Given the description of an element on the screen output the (x, y) to click on. 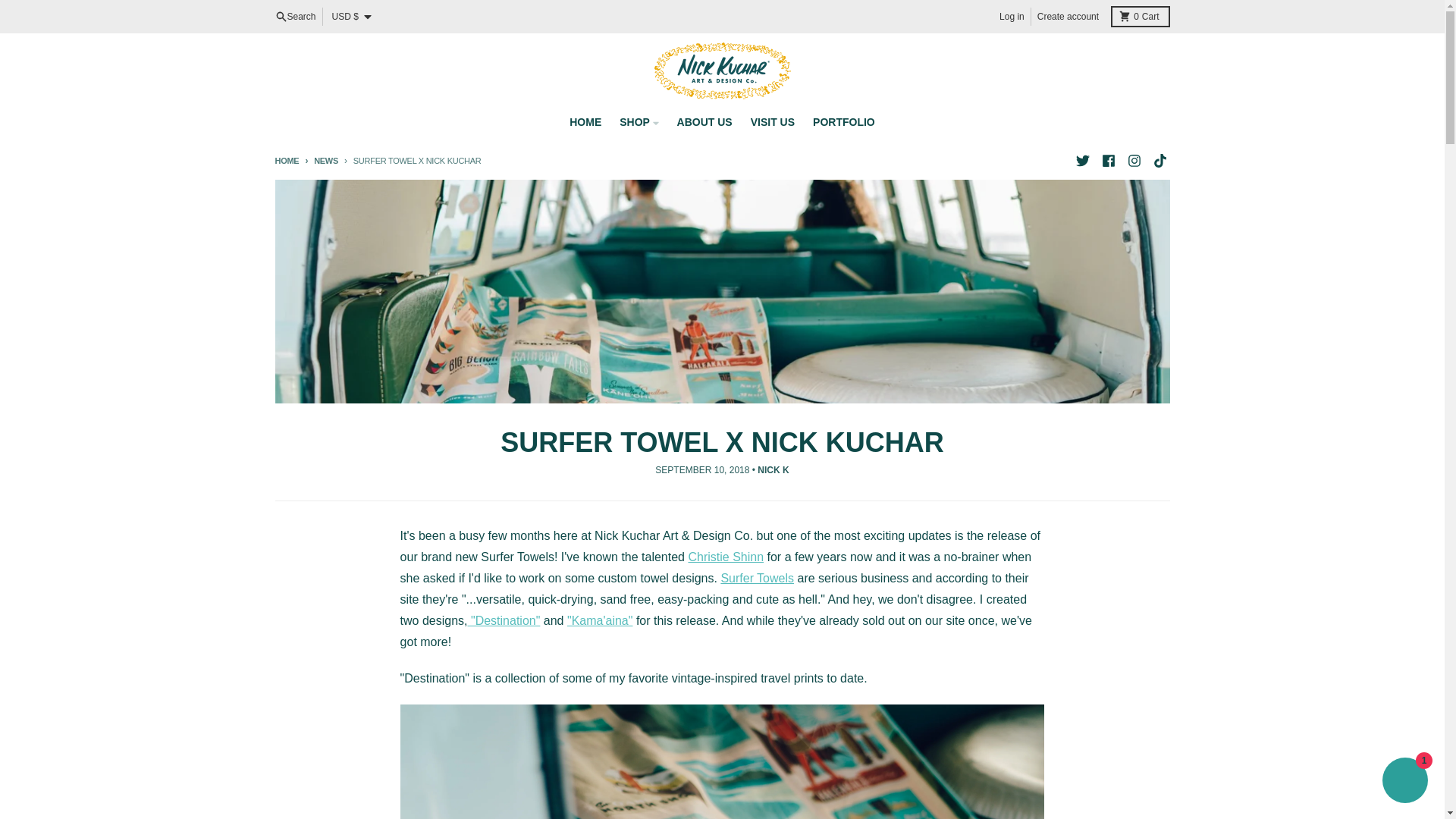
Go to Shinn Studio Website (724, 556)
Search (294, 16)
Log in (1011, 16)
HOME (585, 121)
Create account (1067, 16)
Go to Surfer Towel Website (756, 577)
Back to the homepage (1139, 16)
